Given the description of an element on the screen output the (x, y) to click on. 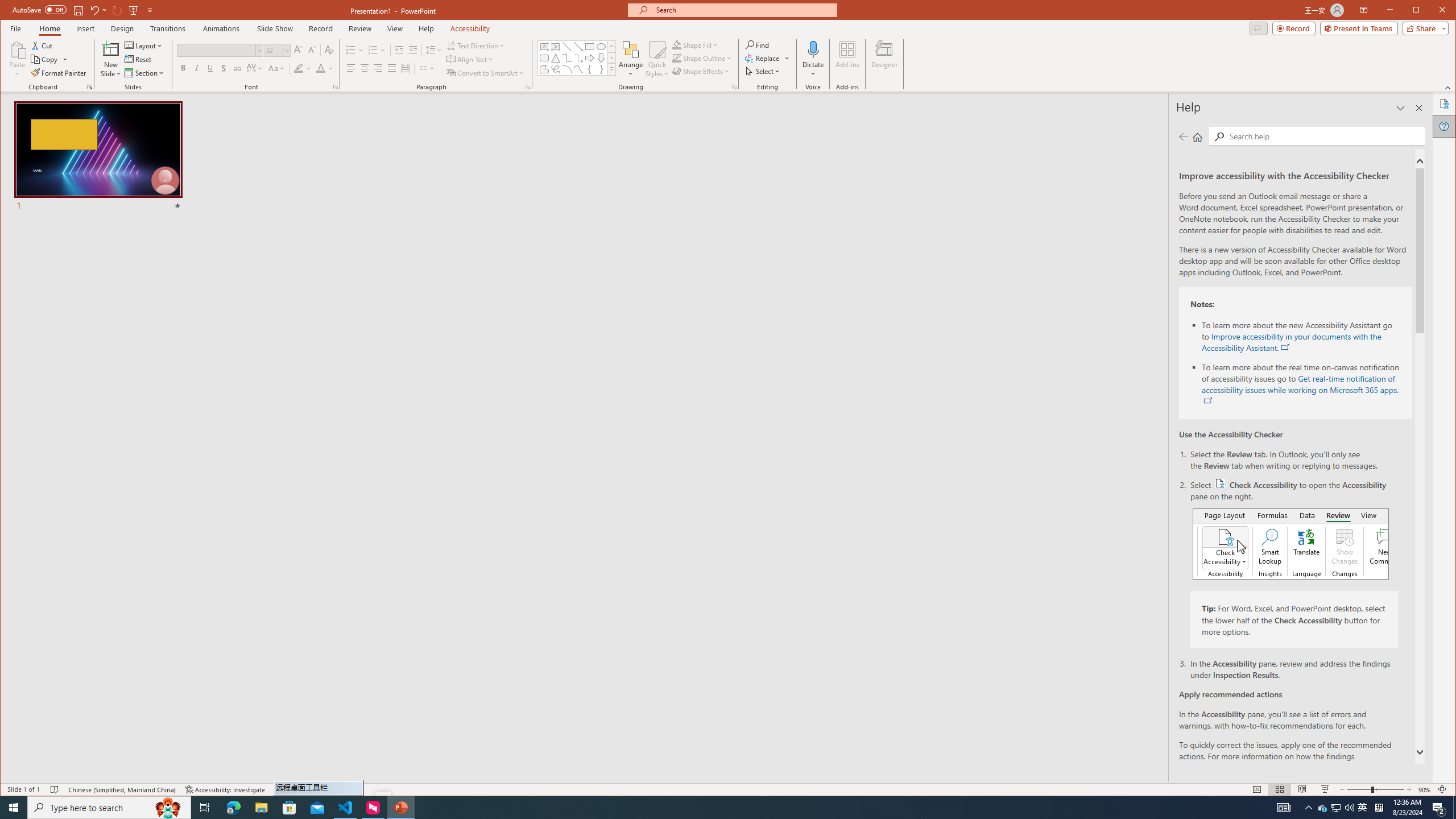
Select (763, 70)
Rectangle (589, 46)
Center (364, 68)
Line Spacing (433, 49)
Vertical Text Box (556, 46)
Task View (204, 807)
Increase Indent (412, 49)
